Given the description of an element on the screen output the (x, y) to click on. 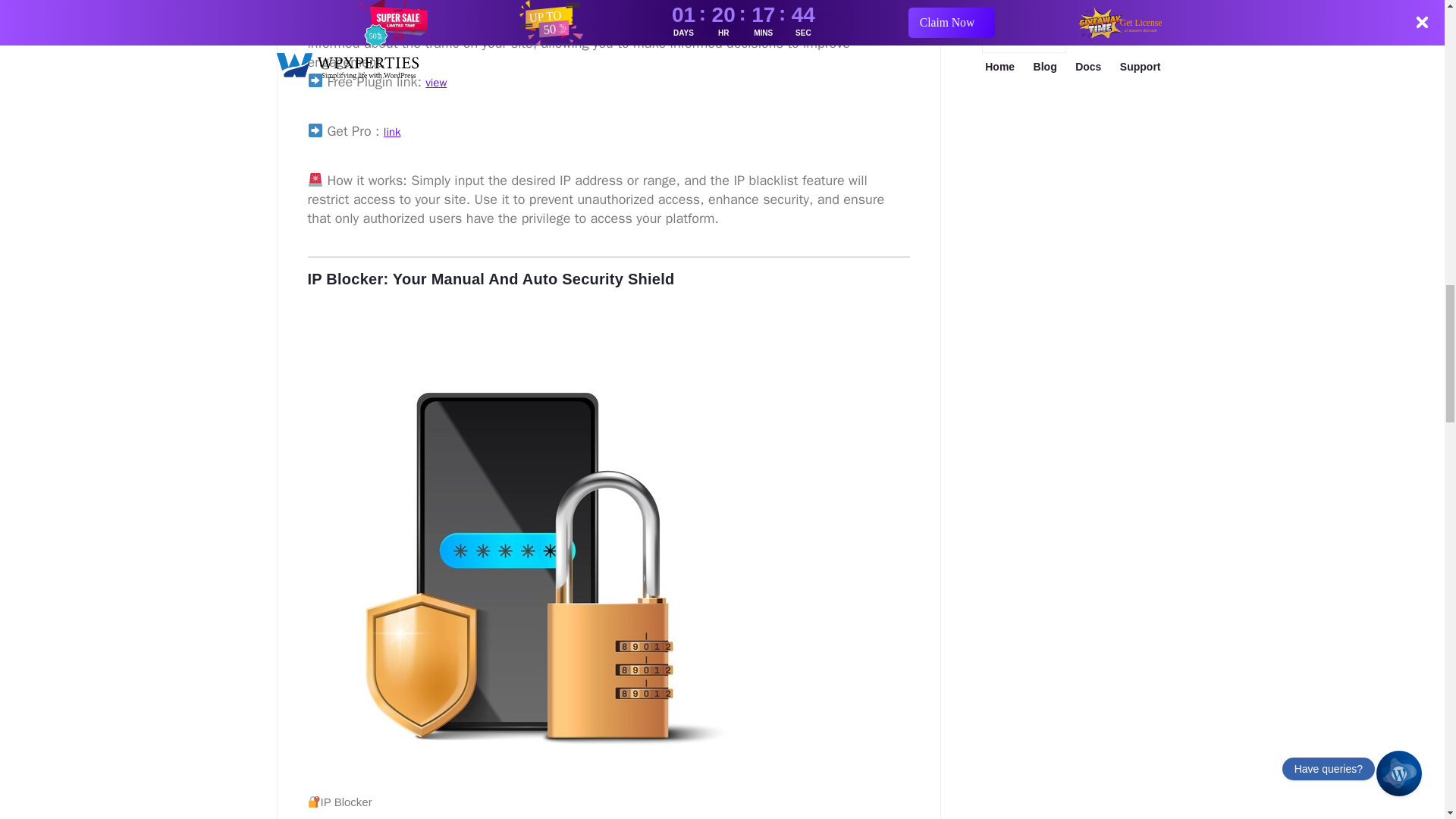
view (435, 82)
WooCommerce (1035, 2)
link (392, 131)
WordPress (1023, 33)
